Given the description of an element on the screen output the (x, y) to click on. 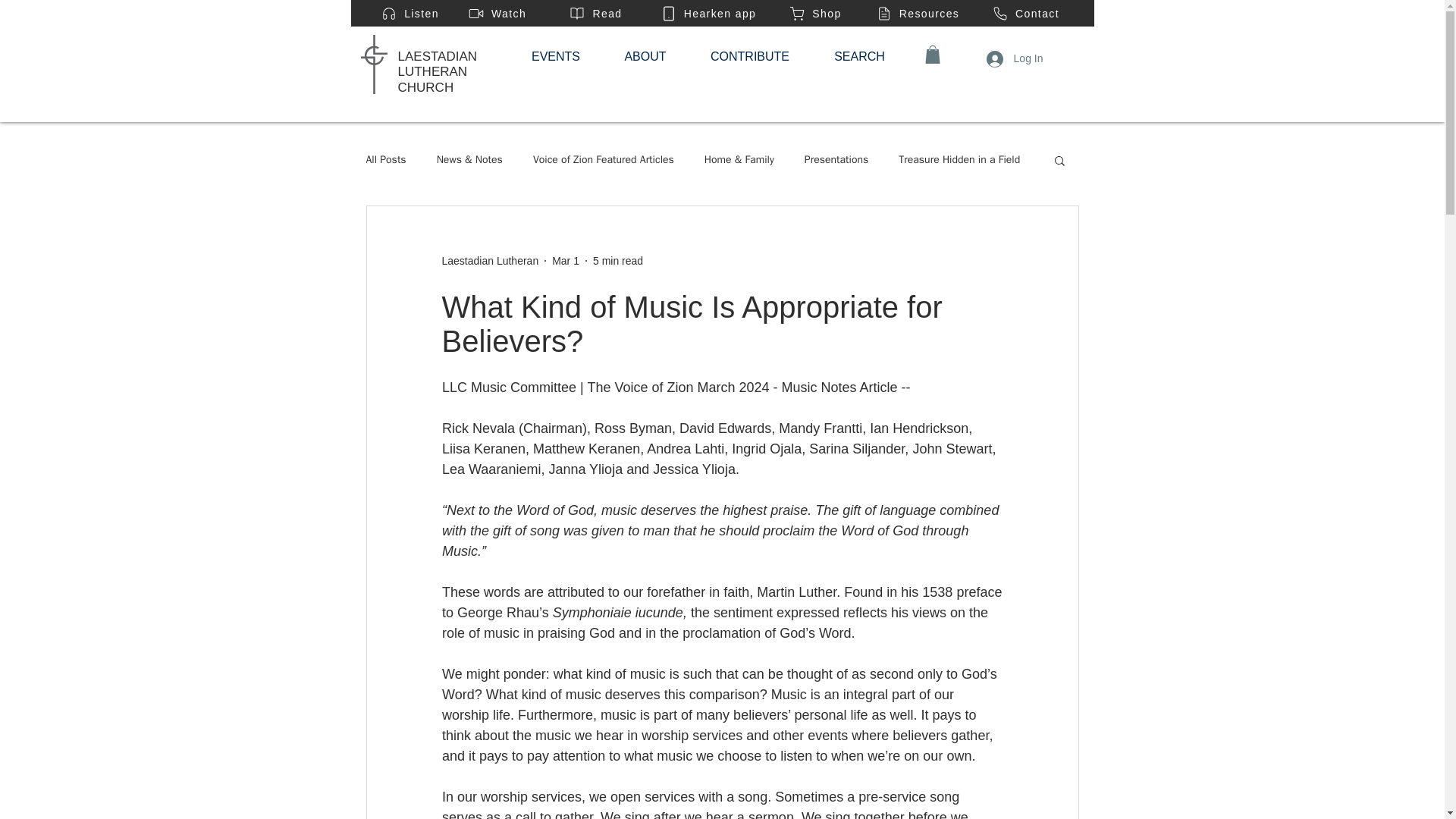
Log In (1014, 58)
Resources (917, 13)
LAESTADIAN (437, 56)
ABOUT (644, 56)
Laestadian Lutheran (489, 261)
Treasure Hidden in a Field (959, 160)
Laestadian Lutheran (489, 261)
Contact (1025, 13)
SEARCH (858, 56)
Voice of Zion Featured Articles (603, 160)
Mar 1 (565, 260)
All Posts (385, 160)
CHURCH (424, 87)
Read (595, 13)
LUTHERAN (432, 71)
